Given the description of an element on the screen output the (x, y) to click on. 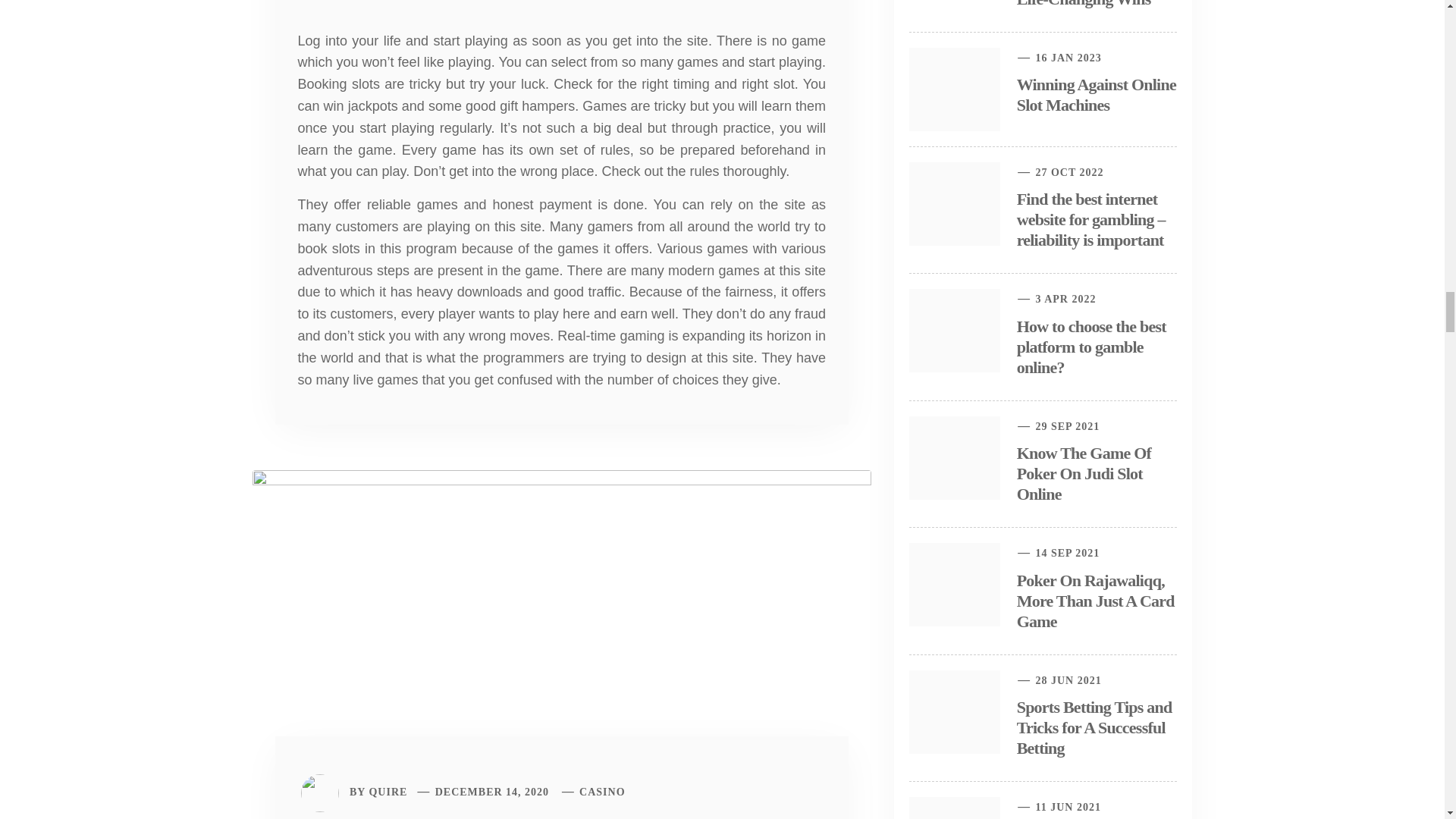
QUIRE (387, 791)
DECEMBER 14, 2020 (491, 791)
Online casino games at DG (560, 624)
CASINO (601, 791)
